Given the description of an element on the screen output the (x, y) to click on. 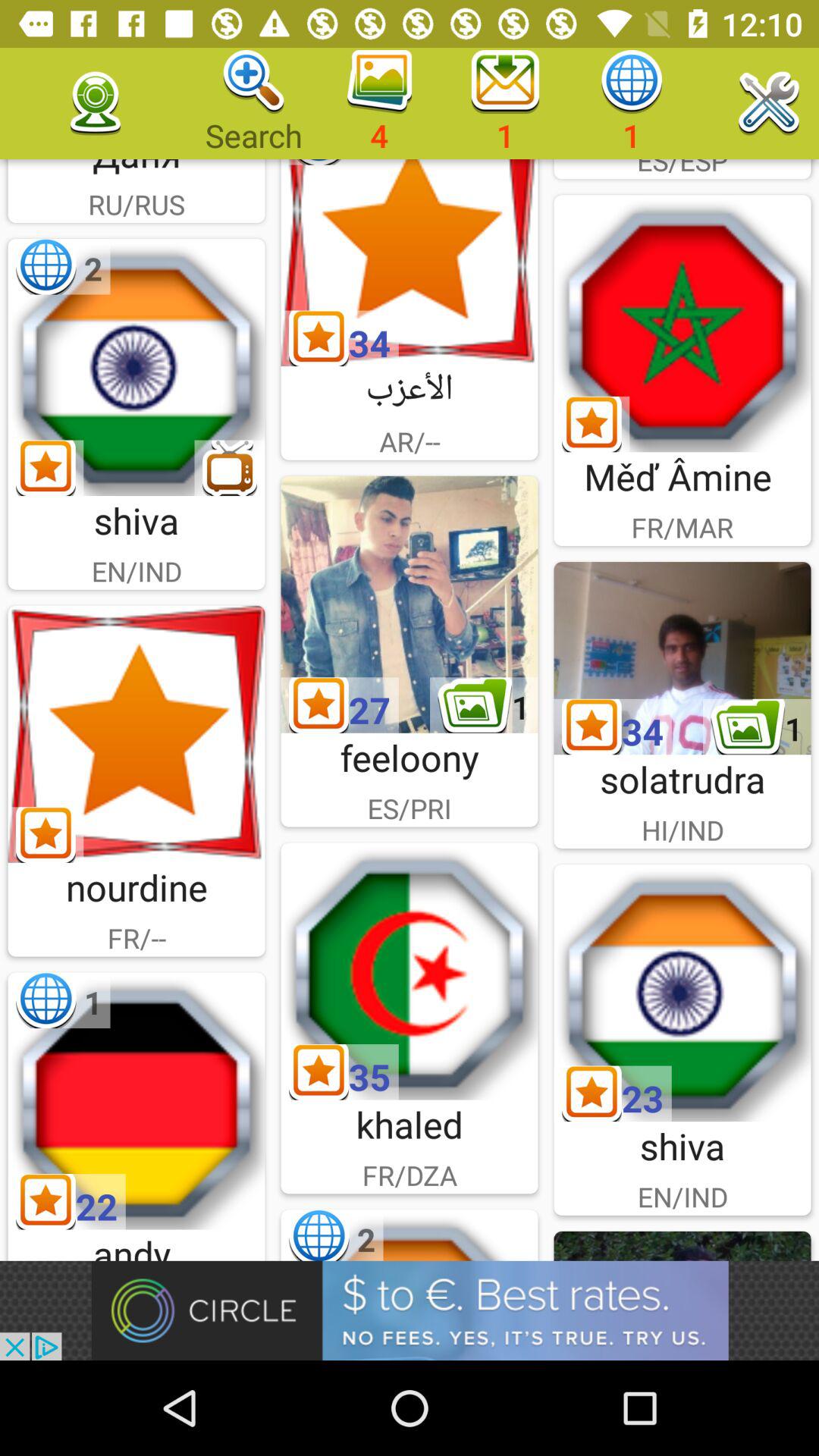
symbol (409, 262)
